Given the description of an element on the screen output the (x, y) to click on. 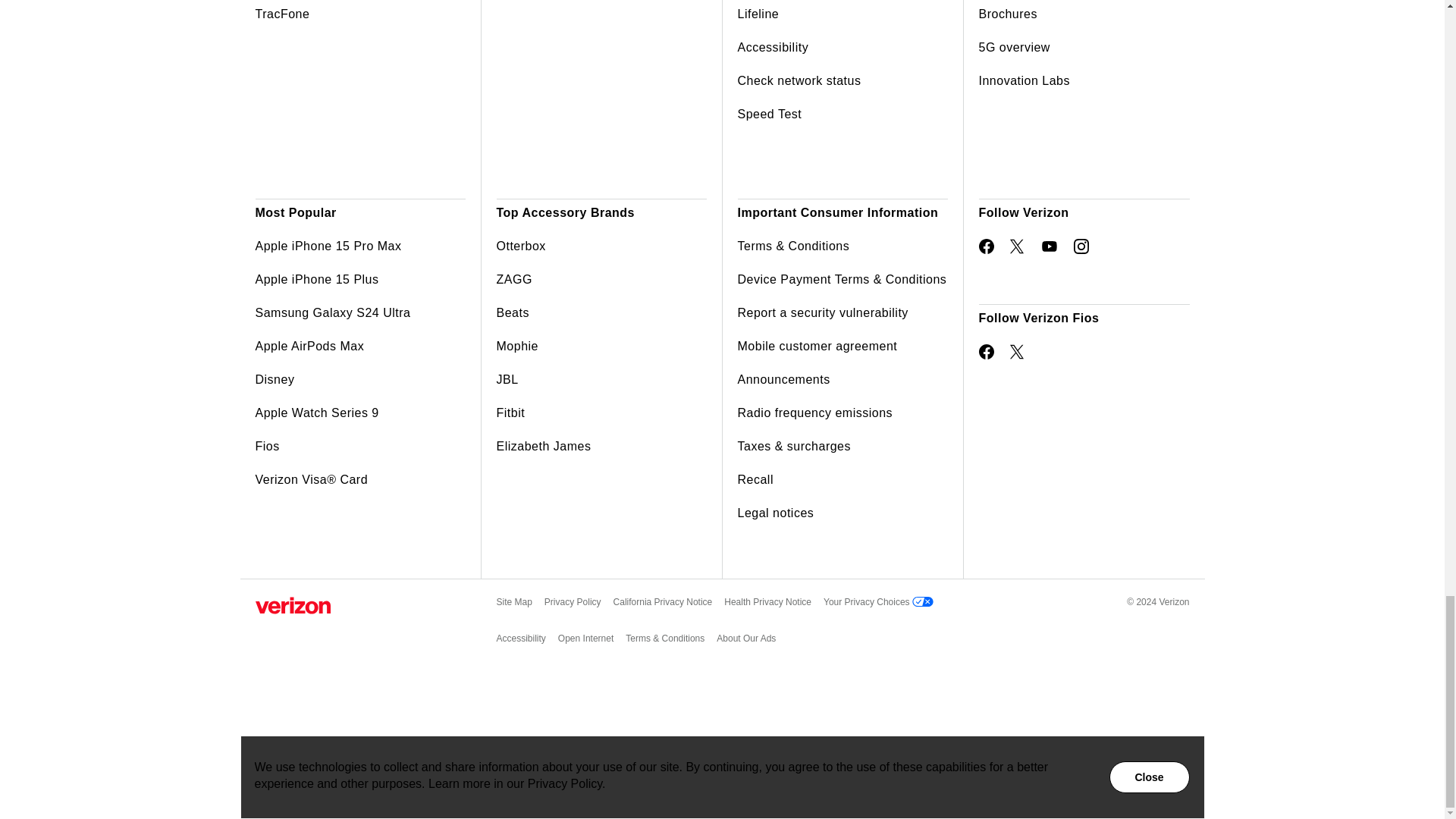
Opens New Window (985, 246)
